Given the description of an element on the screen output the (x, y) to click on. 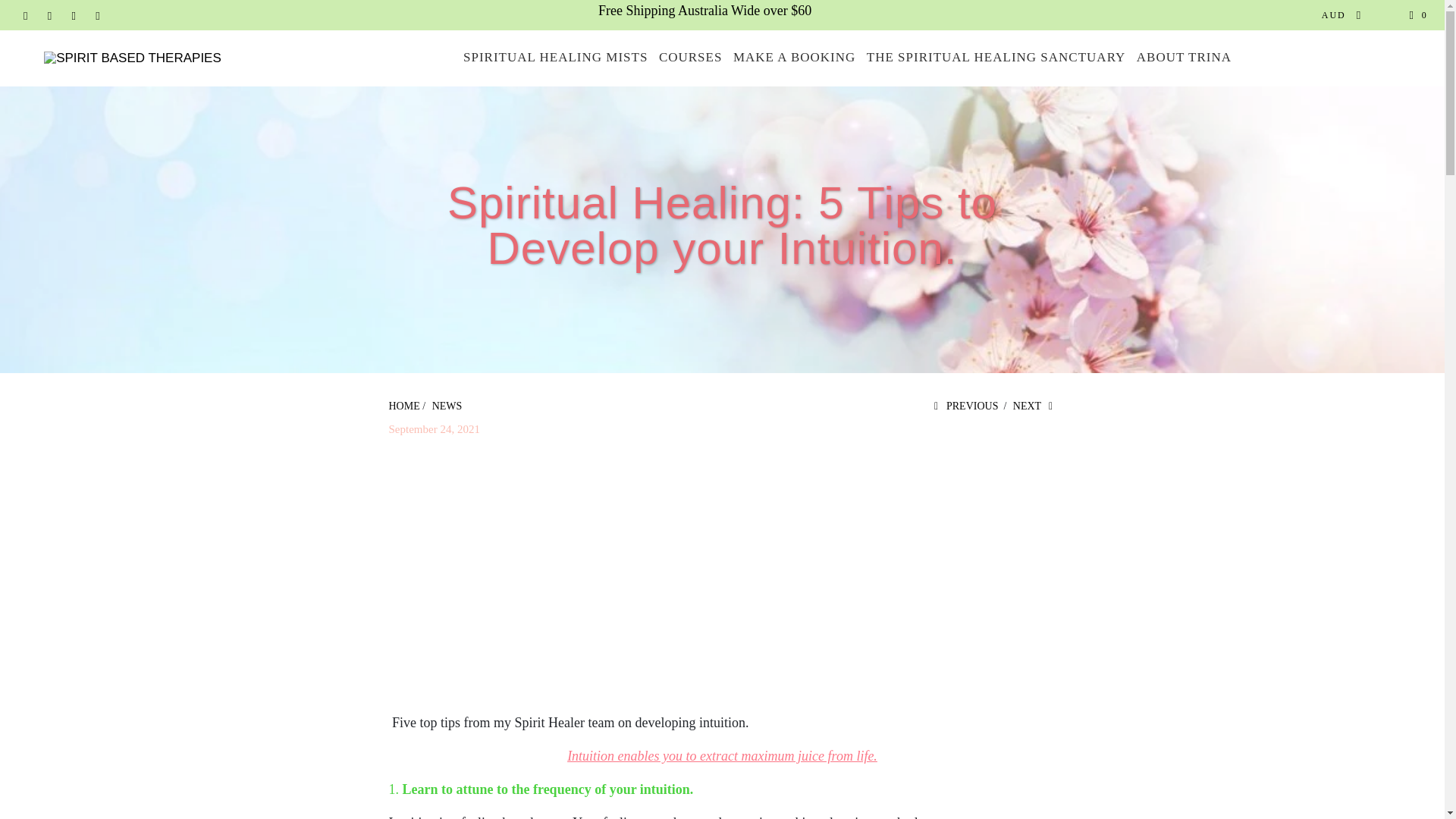
SPIRITUAL HEALING MISTS (555, 57)
MAKE A BOOKING (794, 57)
Spirit Based Therapies (132, 57)
Spirit Based Therapies (403, 405)
NEWS (447, 405)
Spirit Based Therapies on Instagram (73, 14)
Email Spirit Based Therapies (96, 14)
THE SPIRITUAL HEALING SANCTUARY (995, 57)
ABOUT TRINA (1184, 57)
Spirit Based Therapies on Facebook (25, 14)
